Given the description of an element on the screen output the (x, y) to click on. 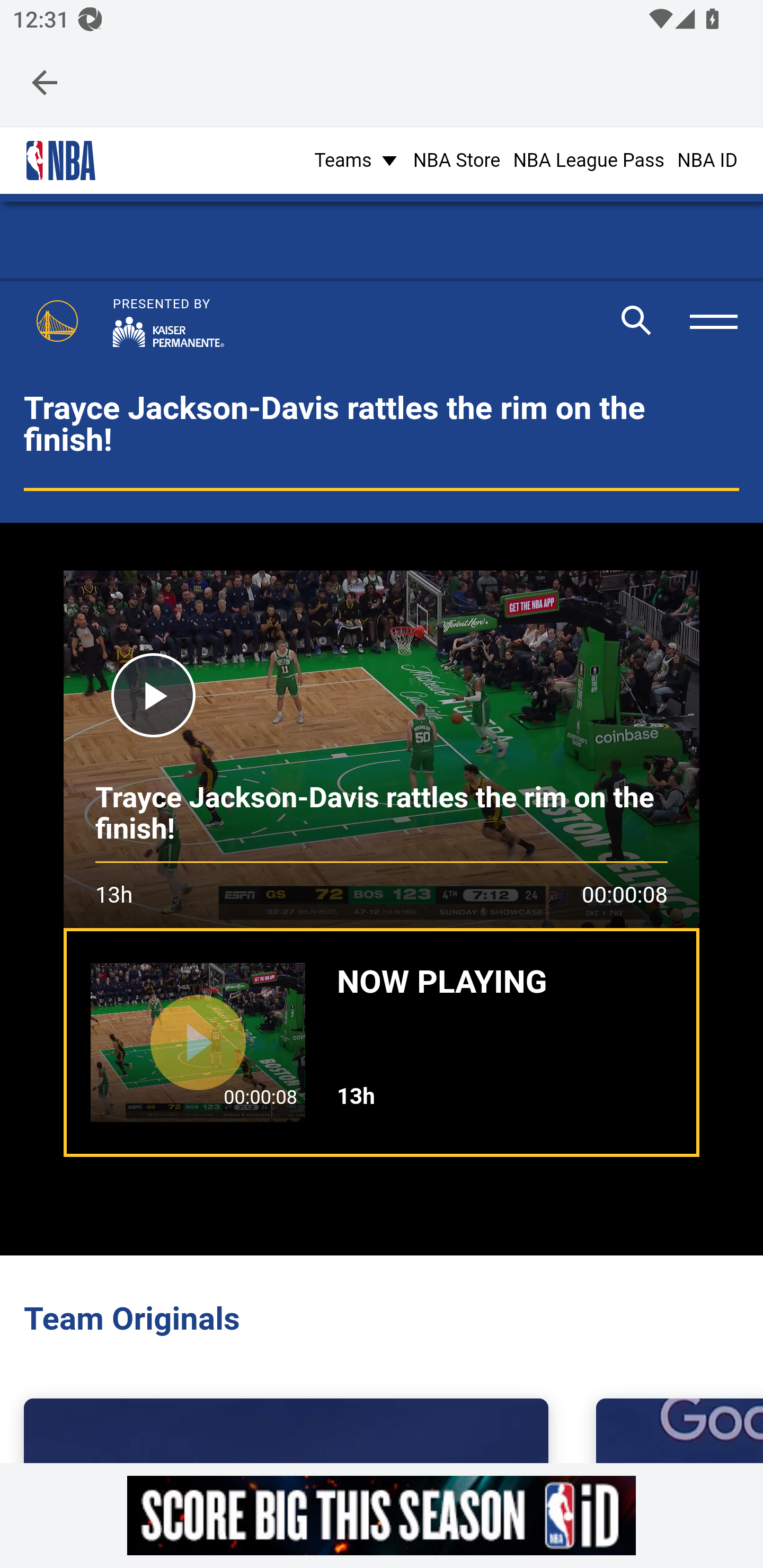
Navigate up (44, 82)
NBA Logo (60, 160)
Toggle Teams (356, 159)
NBA Store NBA Store NBA Store (456, 159)
NBA League Pass NBA League Pass NBA League Pass (588, 159)
NBA ID NBA ID NBA ID (707, 159)
